Given the description of an element on the screen output the (x, y) to click on. 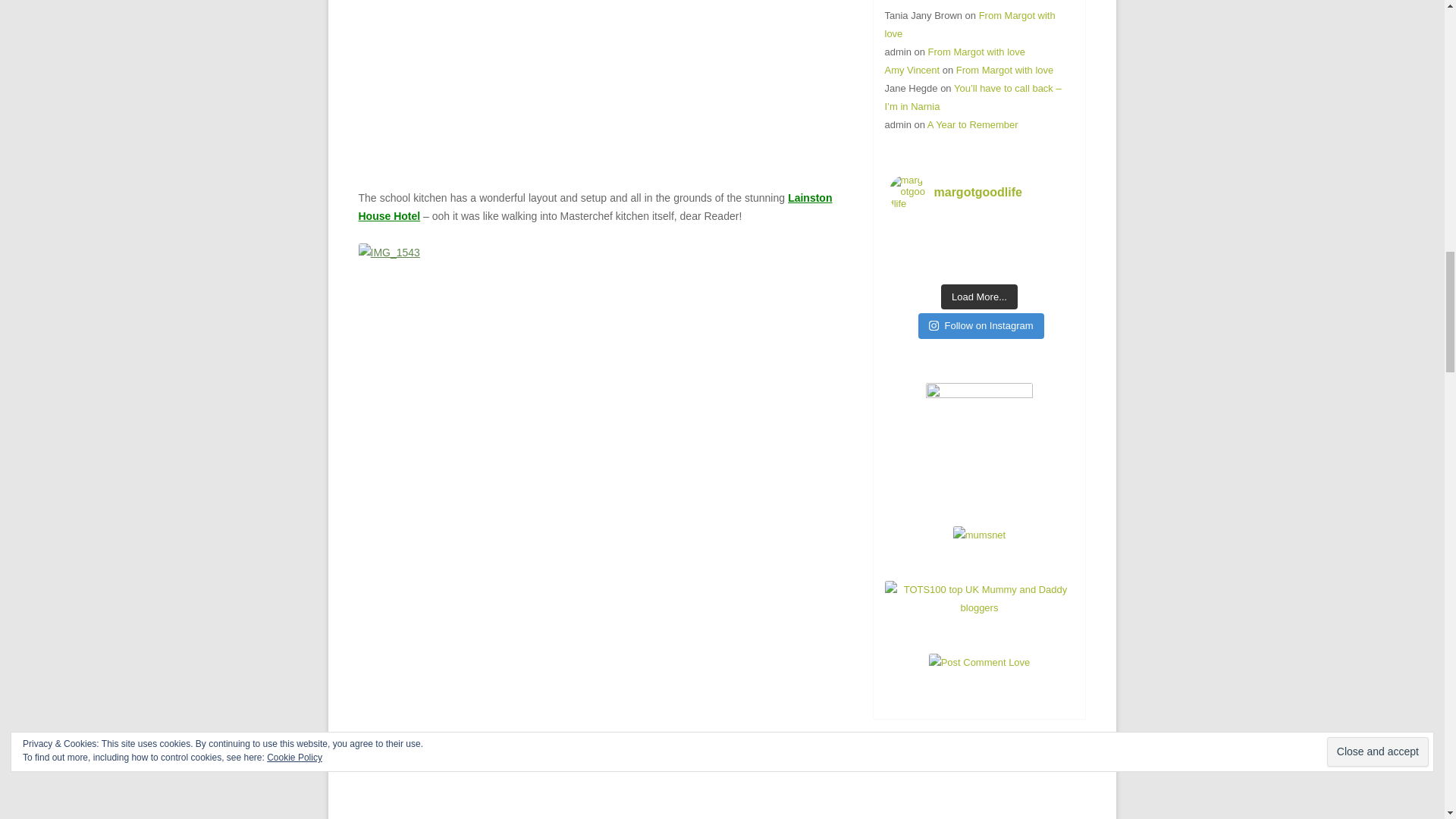
Lainston House Hotel (594, 206)
Tots100 (978, 607)
Post Comment Love (979, 662)
